Given the description of an element on the screen output the (x, y) to click on. 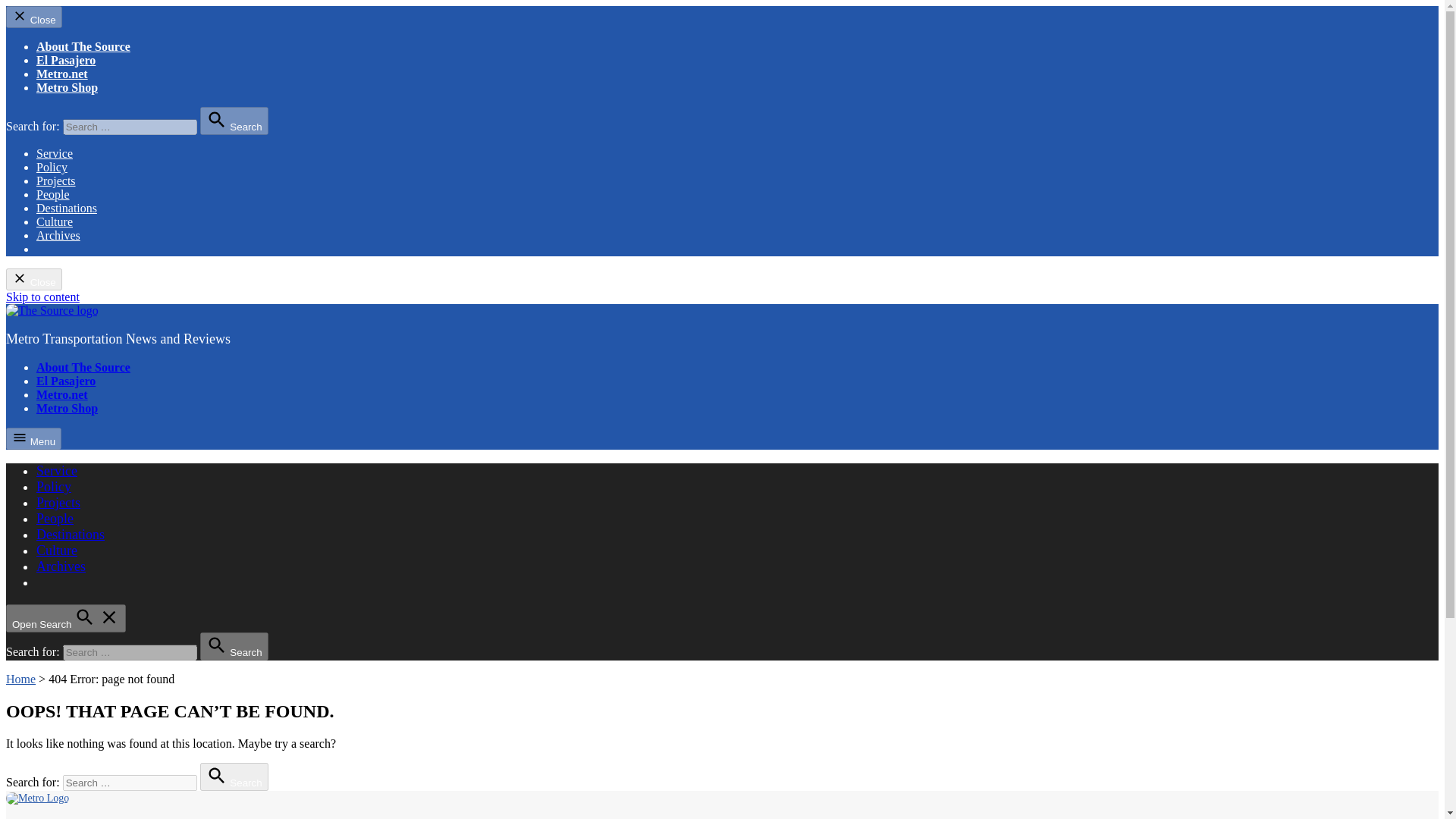
Close (33, 16)
Menu (33, 438)
Metro.net (61, 394)
Archives (60, 566)
Open Search (65, 618)
Home (19, 678)
People (52, 194)
Policy (51, 166)
Service (56, 470)
Archives (58, 235)
